Given the description of an element on the screen output the (x, y) to click on. 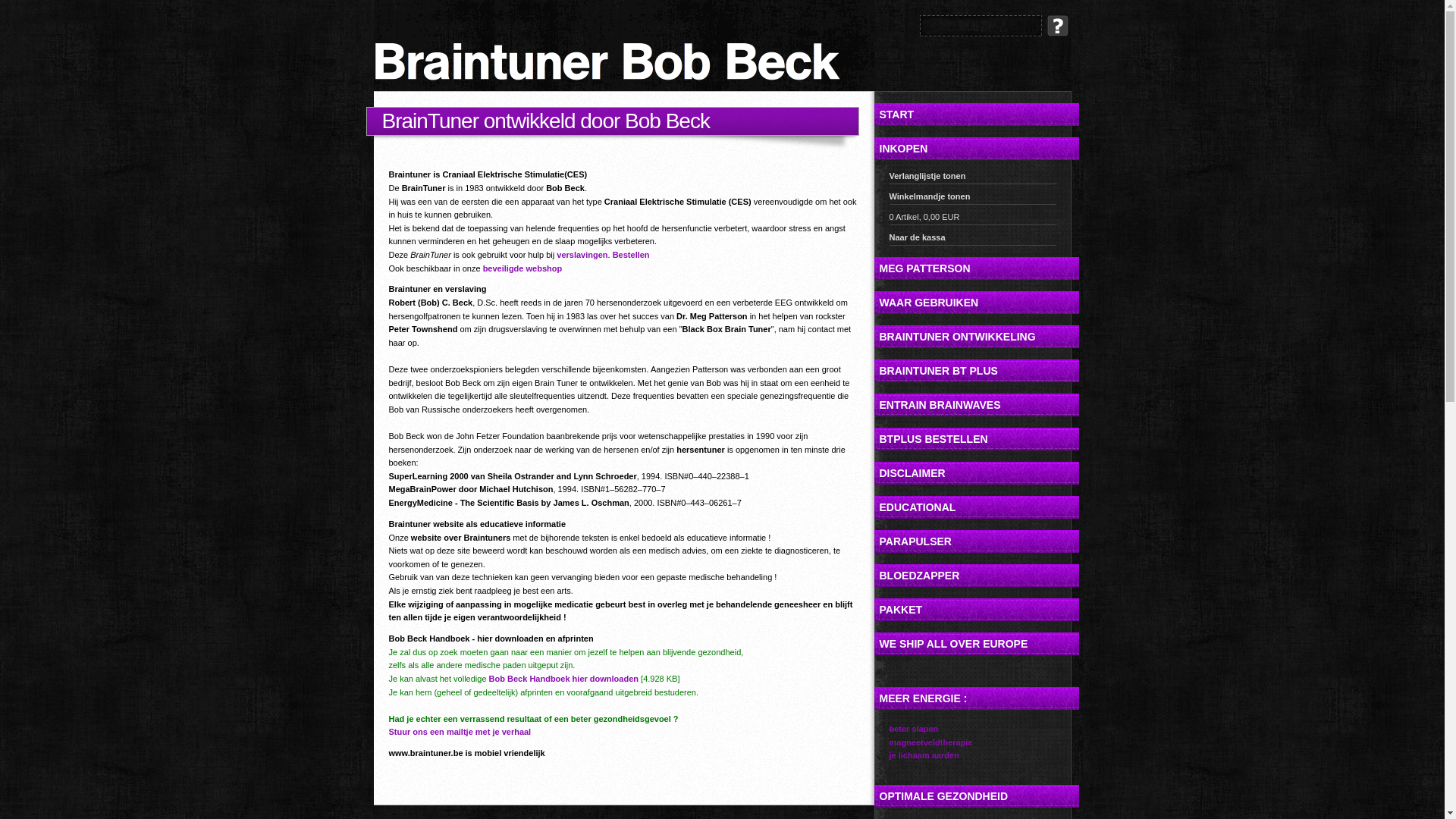
BRAINTUNER ONTWIKKELING Element type: text (975, 336)
Stuur ons een mailtje met je verhaal Element type: text (459, 731)
beveiligde webshop Element type: text (522, 268)
je lichaam aarden Element type: text (923, 754)
START Element type: text (975, 114)
Naar de kassa Element type: text (971, 238)
Bestellen Element type: text (630, 254)
Verlanglijstje tonen Element type: text (971, 177)
ENTRAIN BRAINWAVES Element type: text (975, 404)
DISCLAIMER Element type: text (975, 472)
BTPLUS BESTELLEN Element type: text (975, 438)
WAAR GEBRUIKEN Element type: text (975, 302)
BRAINTUNER BT PLUS Element type: text (975, 370)
Winkelmandje tonen Element type: text (971, 197)
beter slapen Element type: text (913, 728)
verslavingen Element type: text (581, 254)
BLOEDZAPPER Element type: text (975, 575)
PAKKET Element type: text (975, 609)
magneetveldtherapie Element type: text (930, 741)
MEG PATTERSON Element type: text (975, 268)
EDUCATIONAL Element type: text (975, 506)
Bob Beck Handboek hier downloaden Element type: text (563, 678)
PARAPULSER Element type: text (975, 541)
